Given the description of an element on the screen output the (x, y) to click on. 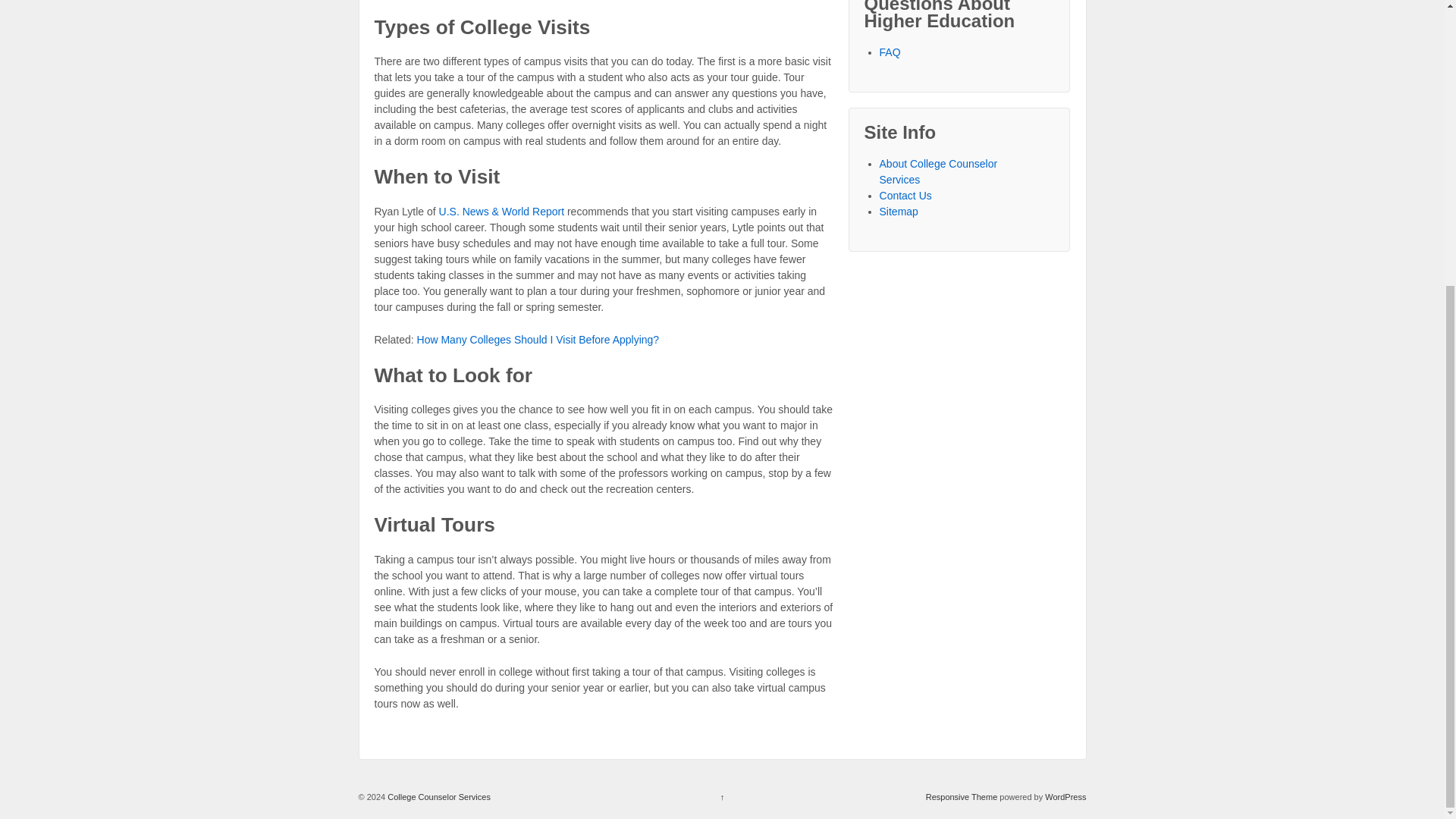
Contact Us (905, 195)
Responsive Theme (961, 796)
How Many Colleges Should I Visit Before Applying? (537, 339)
Sitemap (898, 211)
College Counselor Services (437, 796)
FAQ (890, 51)
WordPress (1065, 796)
College Counselor Services (437, 796)
WordPress (1065, 796)
Responsive Theme (961, 796)
About College Counselor Services (938, 171)
